Given the description of an element on the screen output the (x, y) to click on. 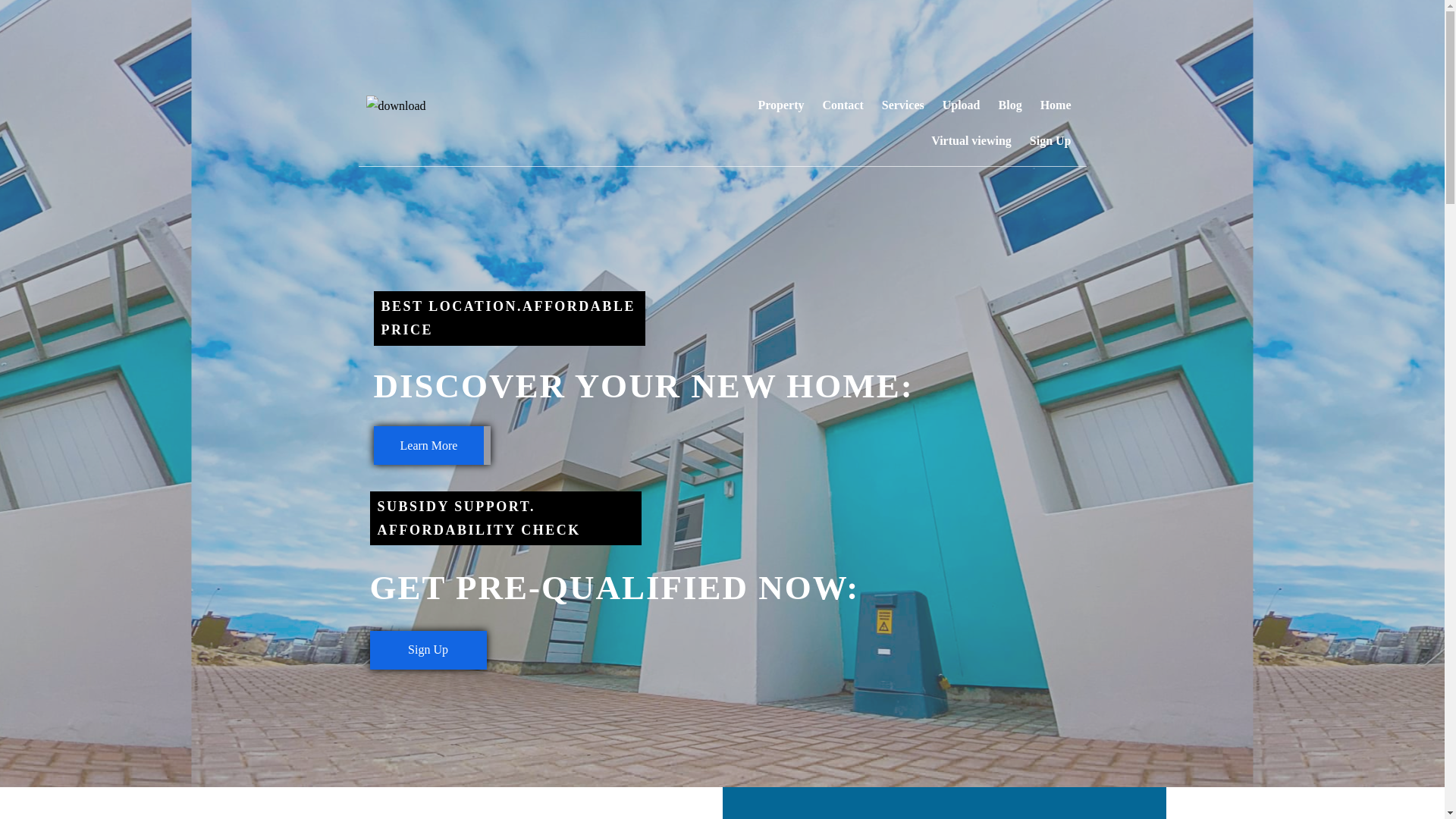
Upload (961, 104)
Virtual viewing (971, 140)
Sign Up (1050, 140)
Contact (842, 104)
Sign Up (427, 649)
download (397, 105)
Blog (1010, 104)
Property (781, 104)
Learn More (427, 445)
Services (903, 104)
